Given the description of an element on the screen output the (x, y) to click on. 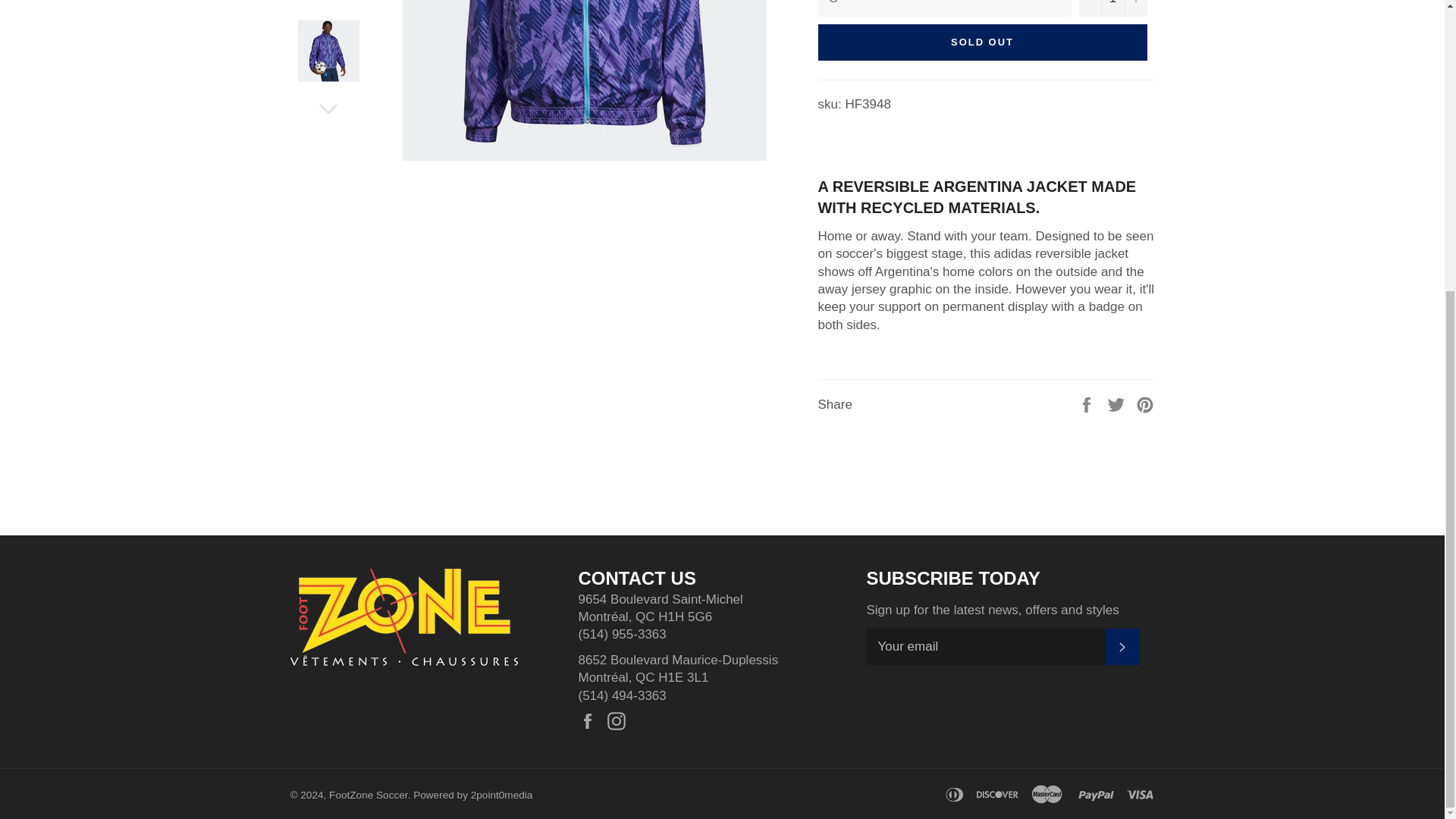
1 (1112, 8)
FootZone Soccer on Instagram (620, 721)
Pin on Pinterest (1144, 403)
FootZone Soccer on Facebook (591, 721)
Share on Facebook (1088, 403)
Tweet on Twitter (1117, 403)
